Given the description of an element on the screen output the (x, y) to click on. 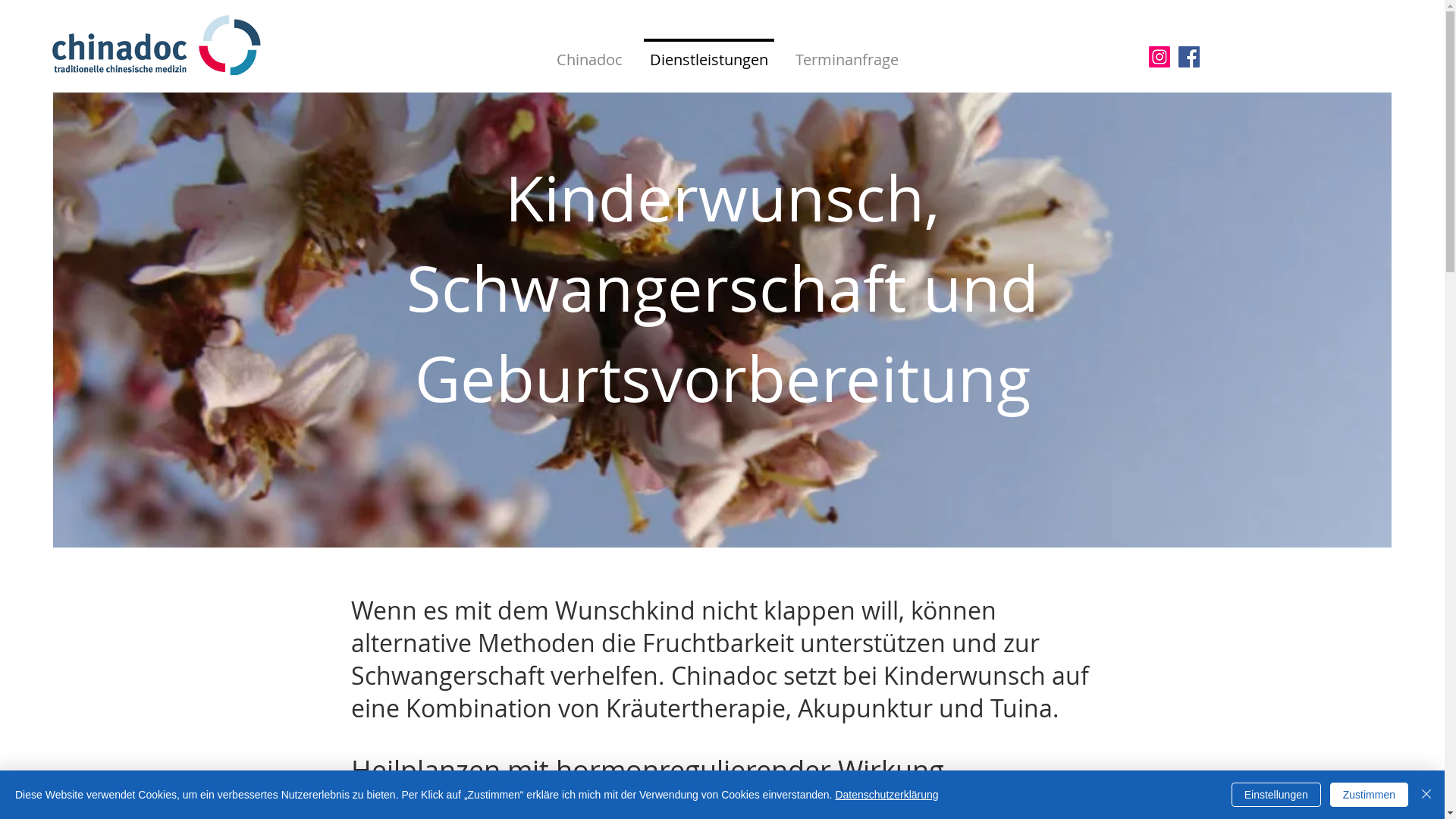
Dienstleistungen Element type: text (708, 52)
Terminanfrage Element type: text (846, 52)
Chinadoc Element type: text (589, 52)
